Given the description of an element on the screen output the (x, y) to click on. 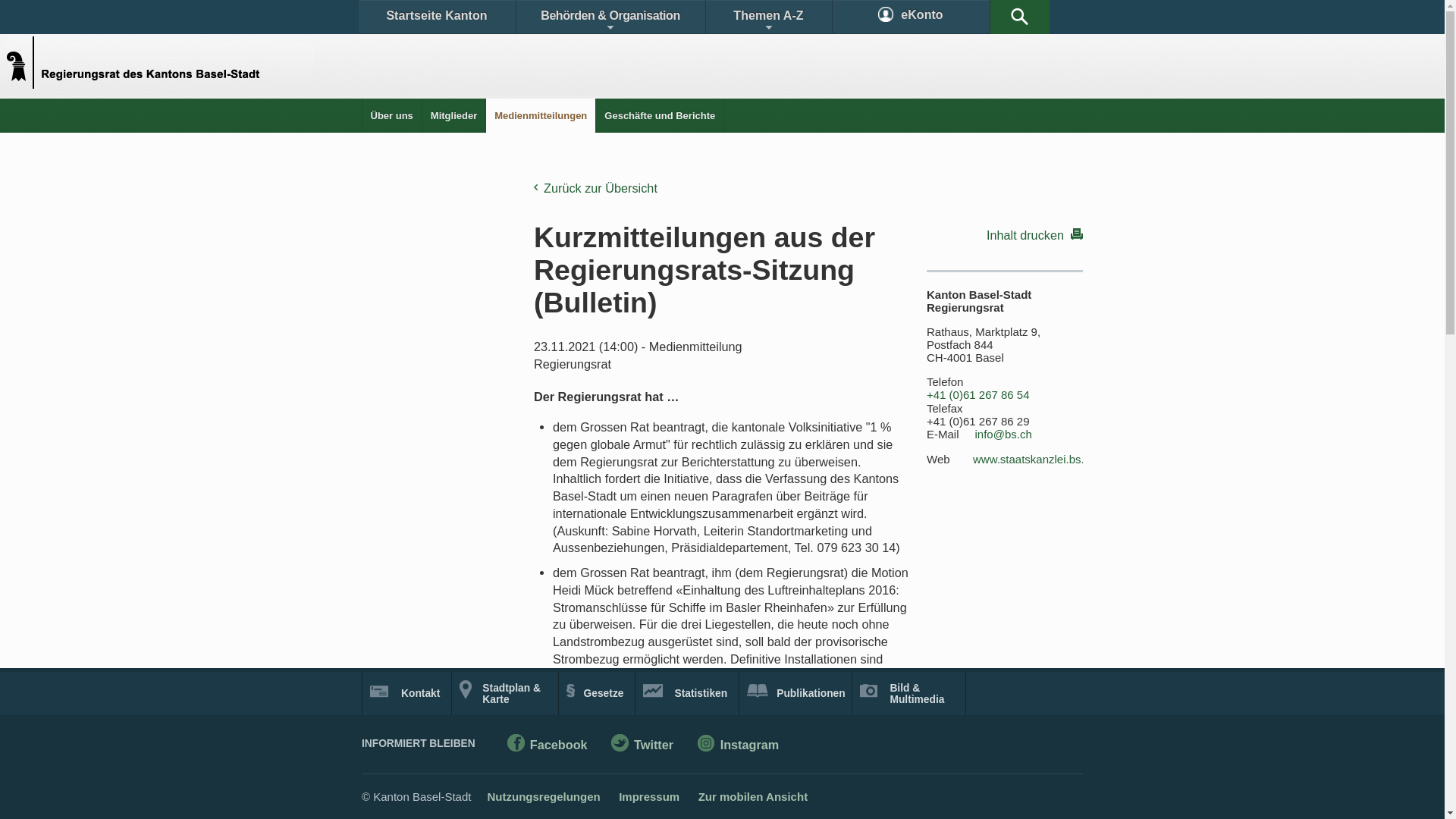
www.staatskanzlei.bs.ch Element type: text (1034, 459)
Medienmitteilungen Element type: text (540, 115)
Nutzungsregelungen Element type: text (542, 796)
+41 (0)61 267 86 54 Element type: text (977, 394)
info@bs.ch Element type: text (1003, 434)
Kontakt Element type: text (406, 693)
Bild & Multimedia Element type: text (908, 693)
Statistiken Element type: text (687, 693)
eKonto Element type: text (910, 17)
Facebook Element type: text (547, 746)
Gesetze Element type: text (597, 693)
Twitter Element type: text (642, 746)
Themen A-Z Element type: text (768, 17)
Impressum Element type: text (648, 796)
Instagram Element type: text (738, 746)
Stadtplan & Karte Element type: text (504, 693)
Mitglieder Element type: text (453, 115)
Startseite Kanton Element type: text (435, 17)
Publikationen Element type: text (795, 693)
Inhalt drucken Element type: text (1004, 233)
Zur mobilen Ansicht Element type: text (752, 796)
